Given the description of an element on the screen output the (x, y) to click on. 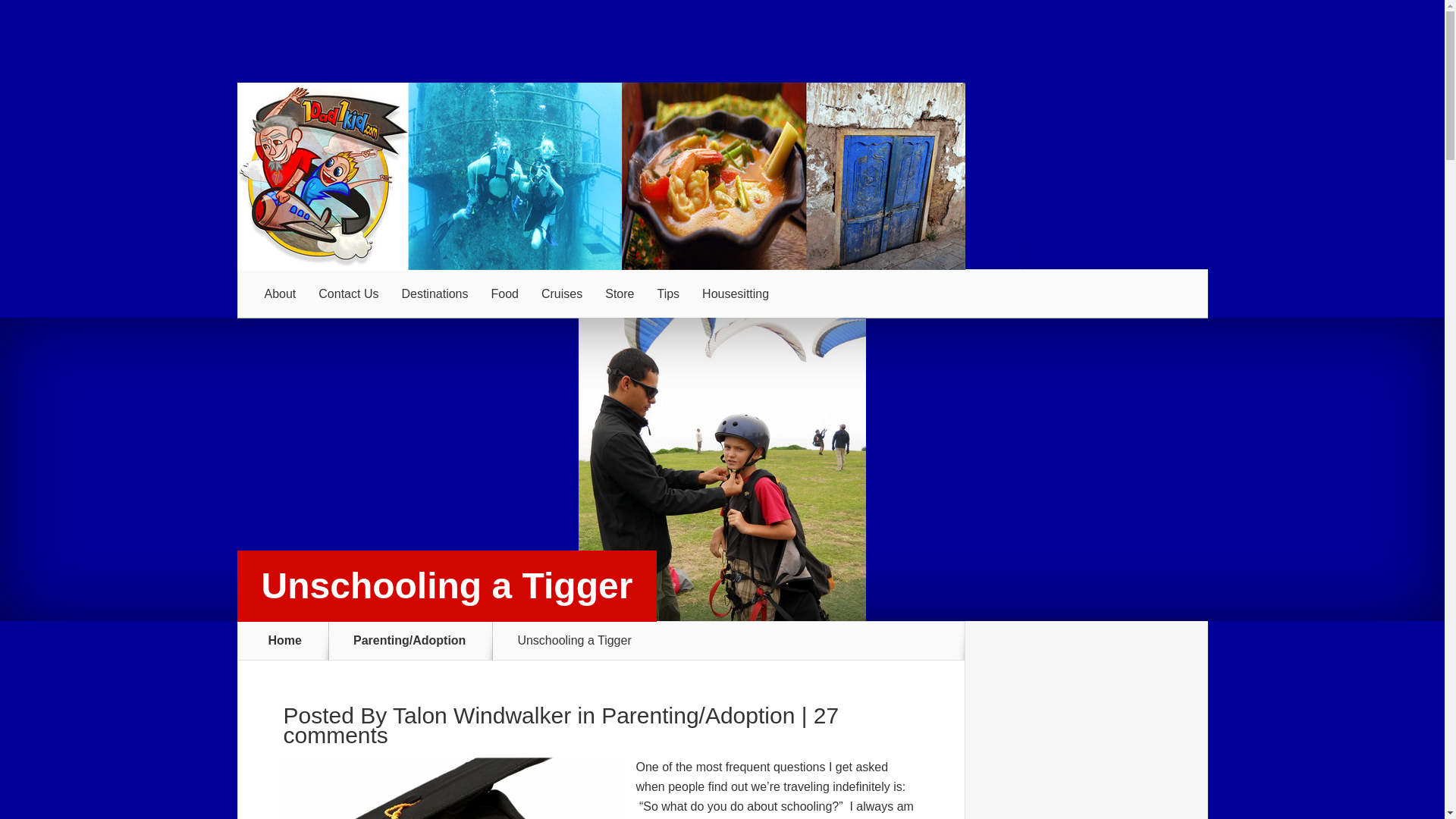
Search (1230, 54)
Tweet (431, 174)
education (185, 341)
Share (143, 174)
Pin (721, 174)
Mail (1010, 174)
Snorkeling in Cozumel (166, 694)
